Given the description of an element on the screen output the (x, y) to click on. 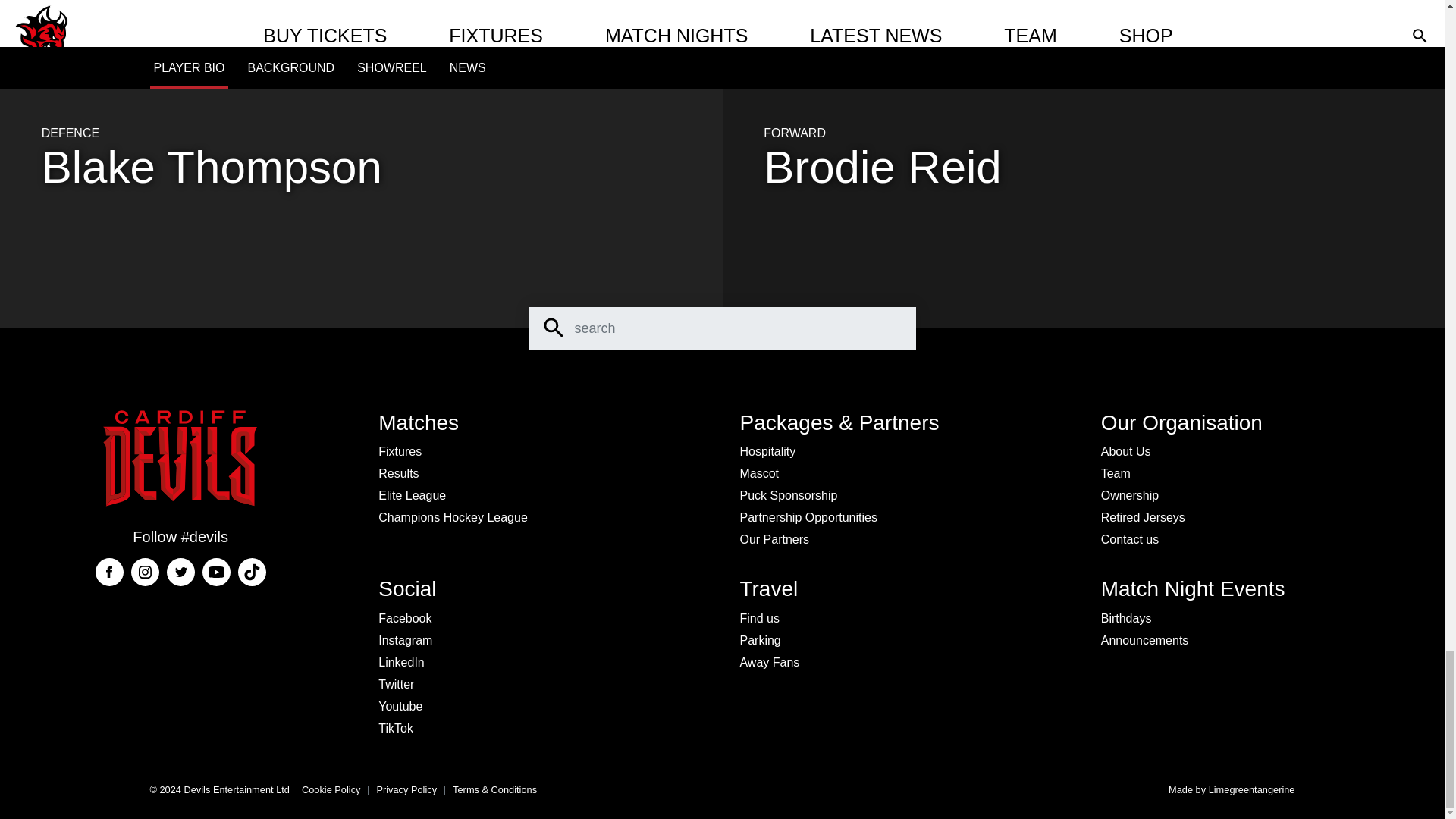
Results (398, 473)
Fixtures (400, 451)
Cookie Policy (331, 789)
Privacy Policy (405, 789)
